Given the description of an element on the screen output the (x, y) to click on. 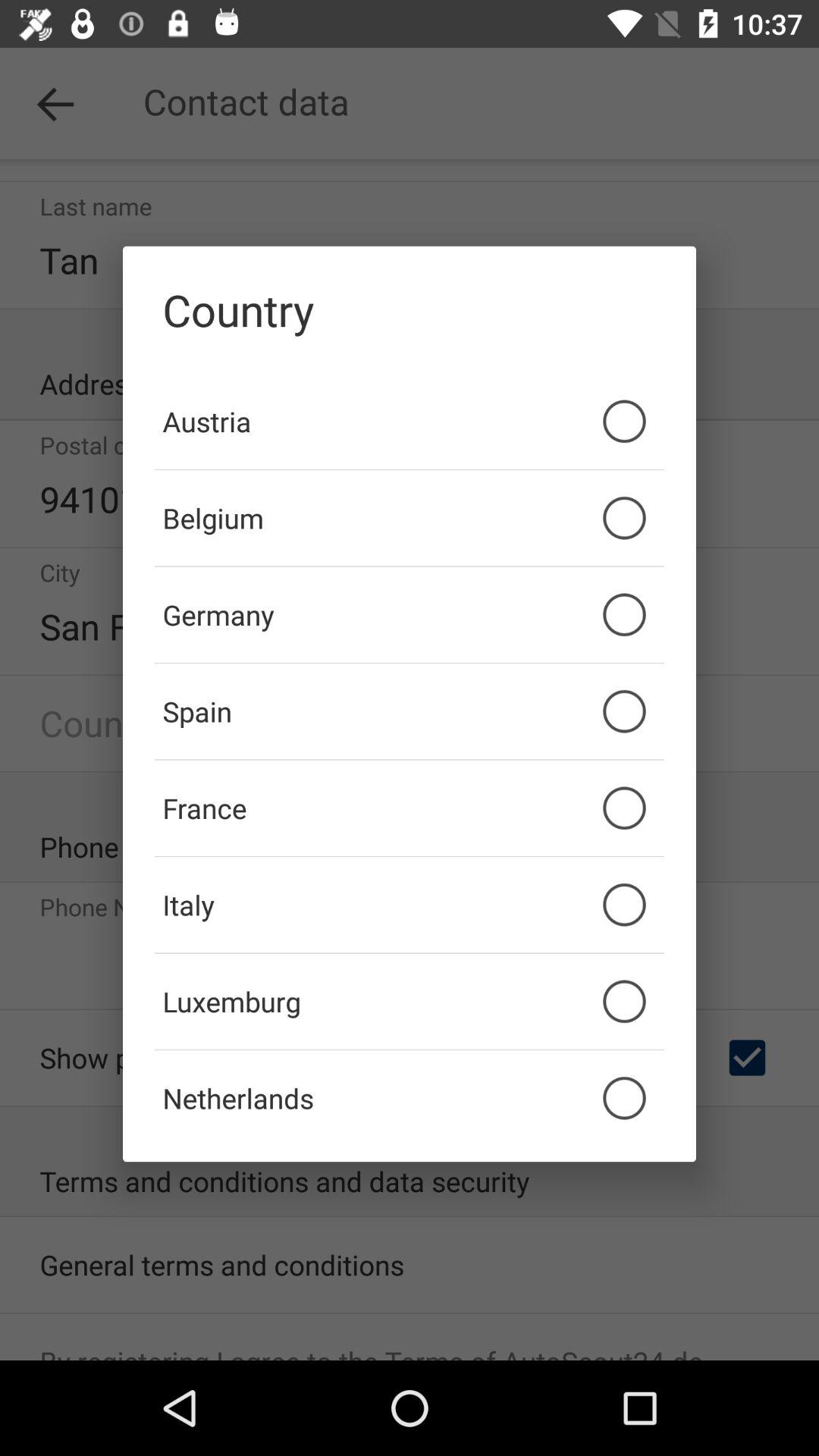
open the netherlands icon (409, 1098)
